Given the description of an element on the screen output the (x, y) to click on. 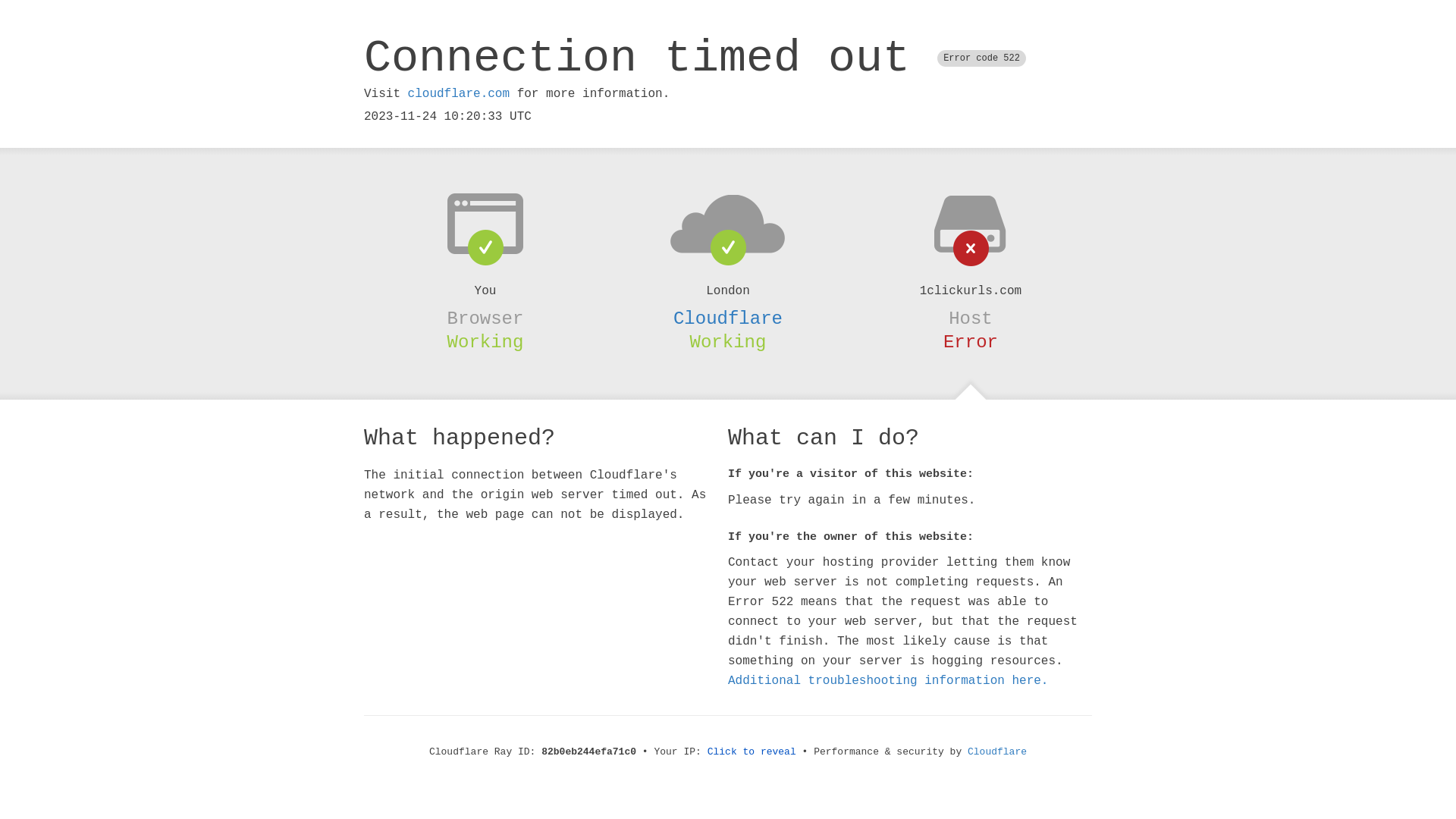
cloudflare.com Element type: text (458, 93)
Additional troubleshooting information here. Element type: text (888, 680)
Cloudflare Element type: text (996, 751)
Click to reveal Element type: text (751, 751)
Cloudflare Element type: text (727, 318)
